Given the description of an element on the screen output the (x, y) to click on. 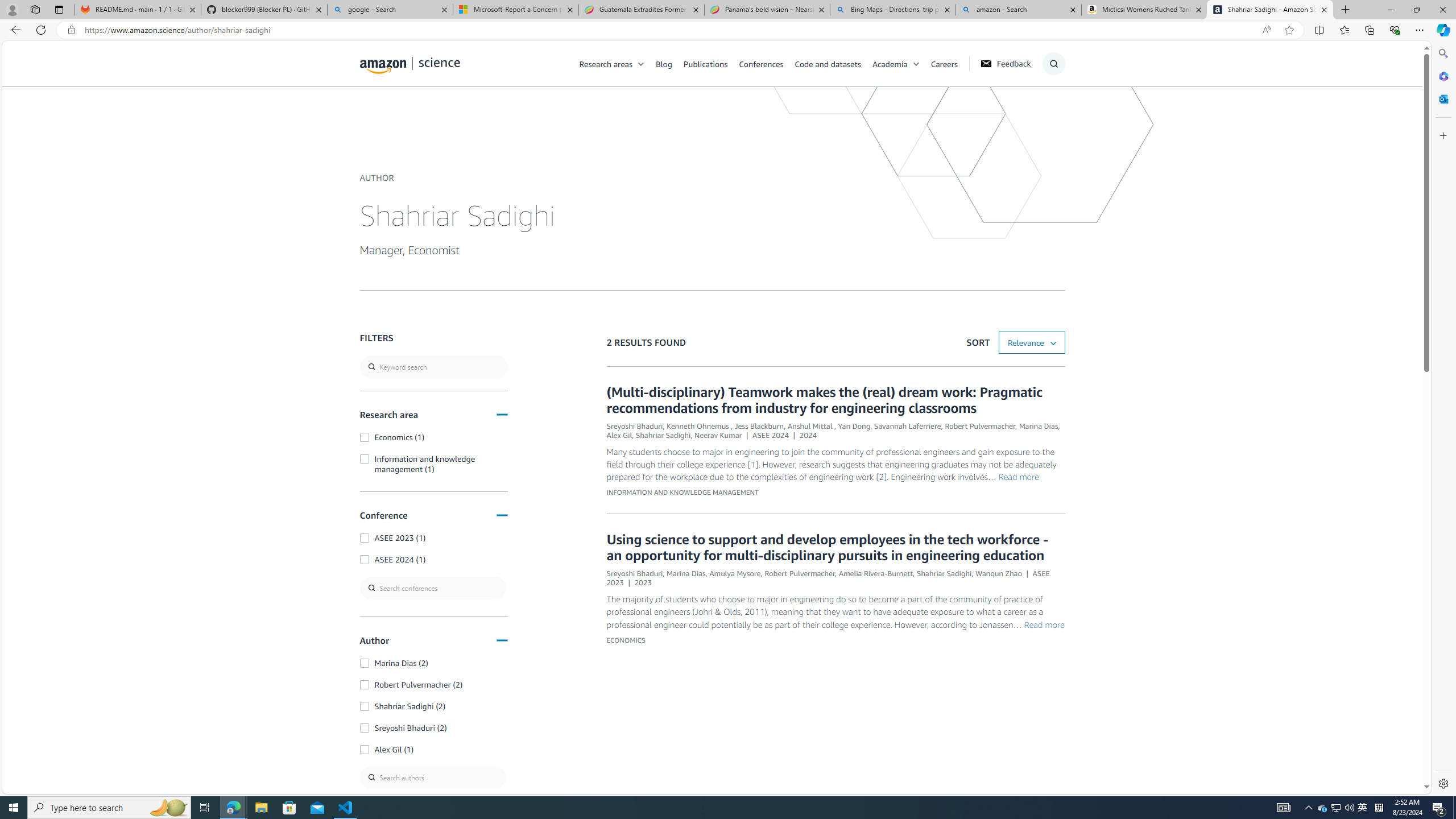
Shahriar Sadighi (943, 573)
SORT (1031, 342)
Feedback (1004, 63)
Alex Gil (618, 435)
amazon - Search (1018, 9)
Yan Dong (853, 425)
Blog (663, 63)
Search authors (432, 776)
Amelia Rivera-Burnett (875, 573)
